Given the description of an element on the screen output the (x, y) to click on. 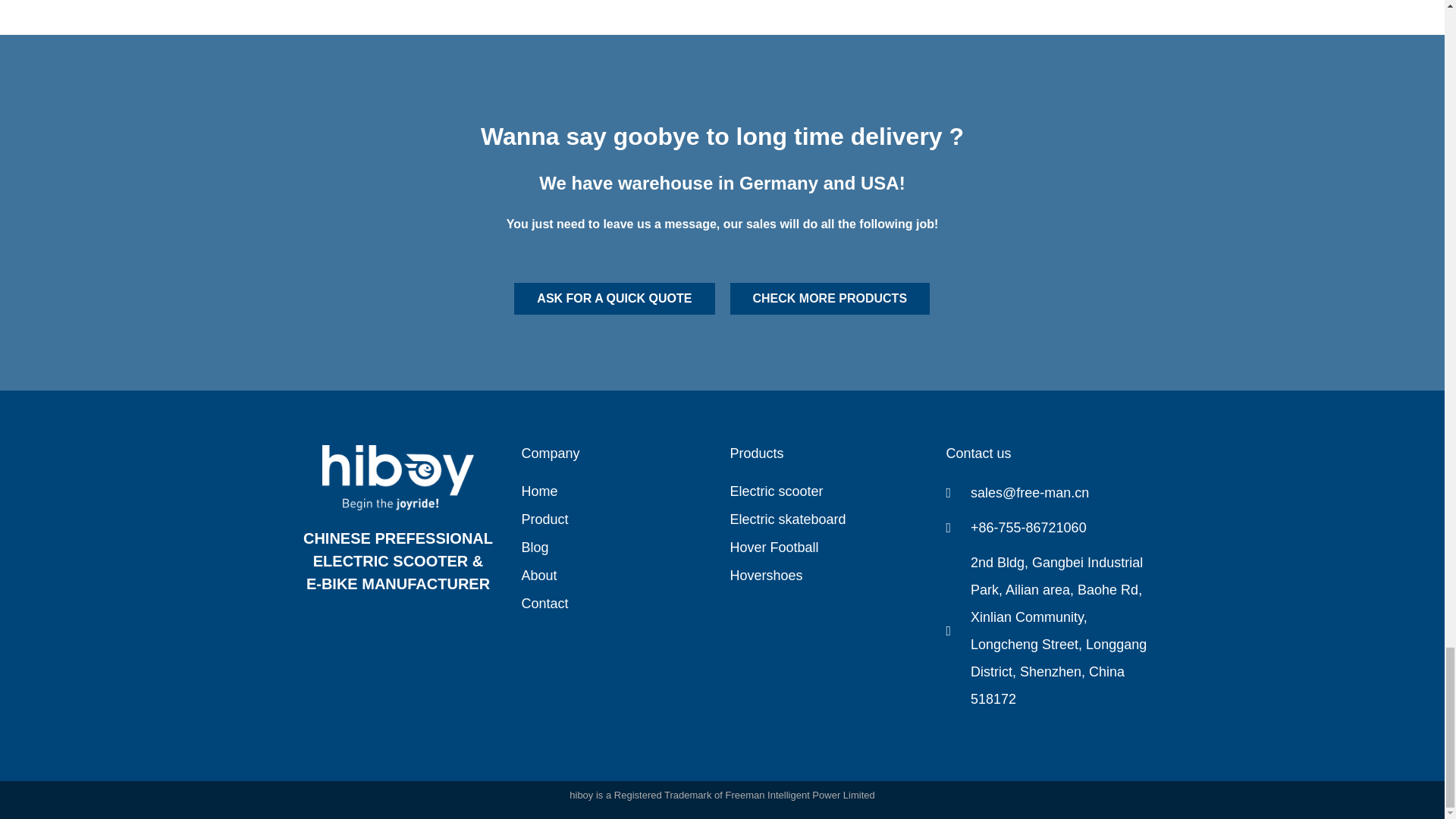
CHECK MORE PRODUCTS (829, 298)
Home (617, 491)
Electric skateboard (829, 518)
Product (617, 518)
ASK FOR A QUICK QUOTE (613, 298)
Hovershoes (829, 575)
Hover Football (829, 547)
Electric scooter (829, 491)
Contact (617, 603)
About (617, 575)
